Given the description of an element on the screen output the (x, y) to click on. 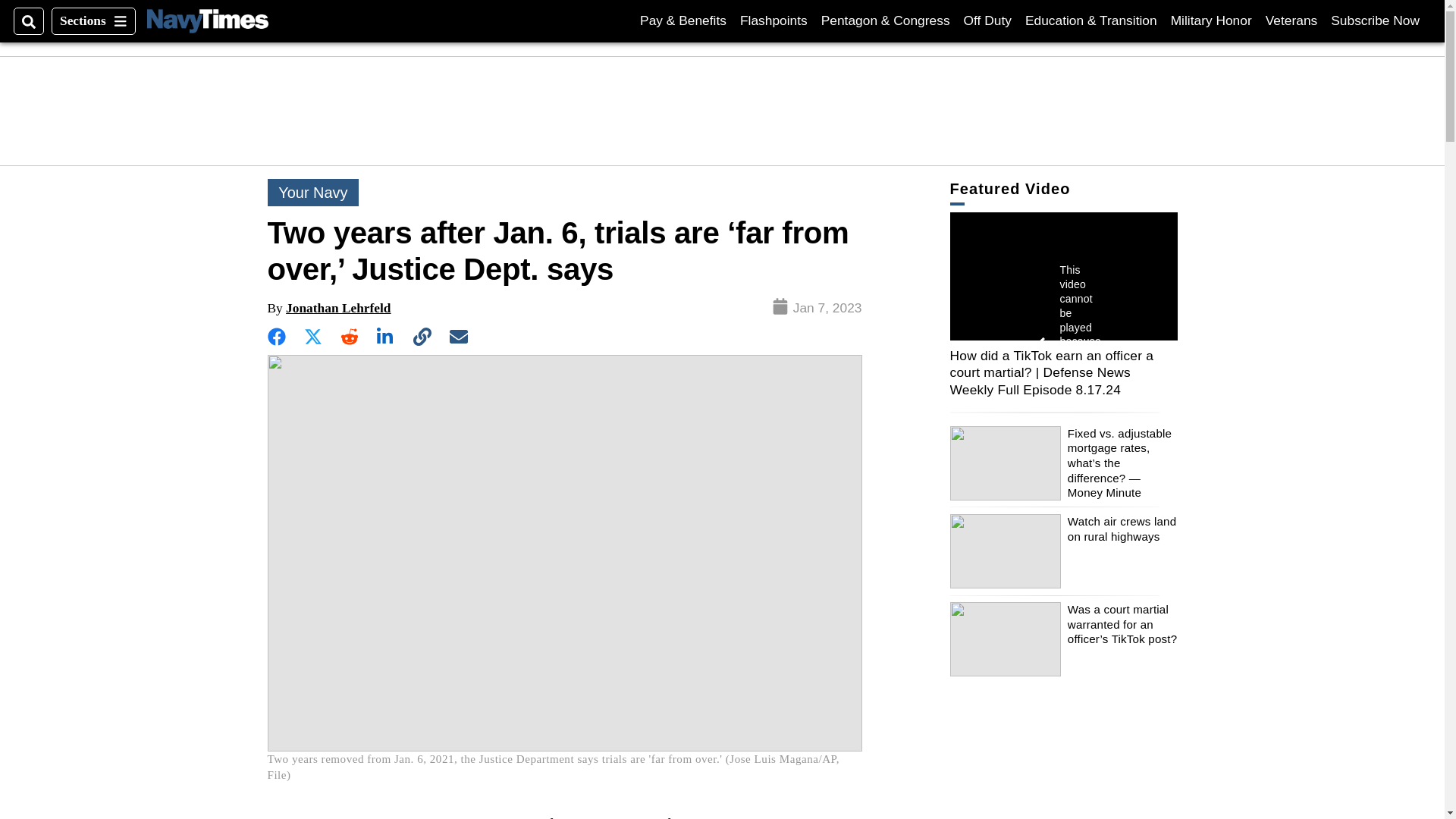
Veterans (1291, 20)
Sections (92, 21)
Off Duty (987, 20)
Navy Times Logo (207, 20)
Flashpoints (773, 20)
Military Honor (1374, 20)
